Given the description of an element on the screen output the (x, y) to click on. 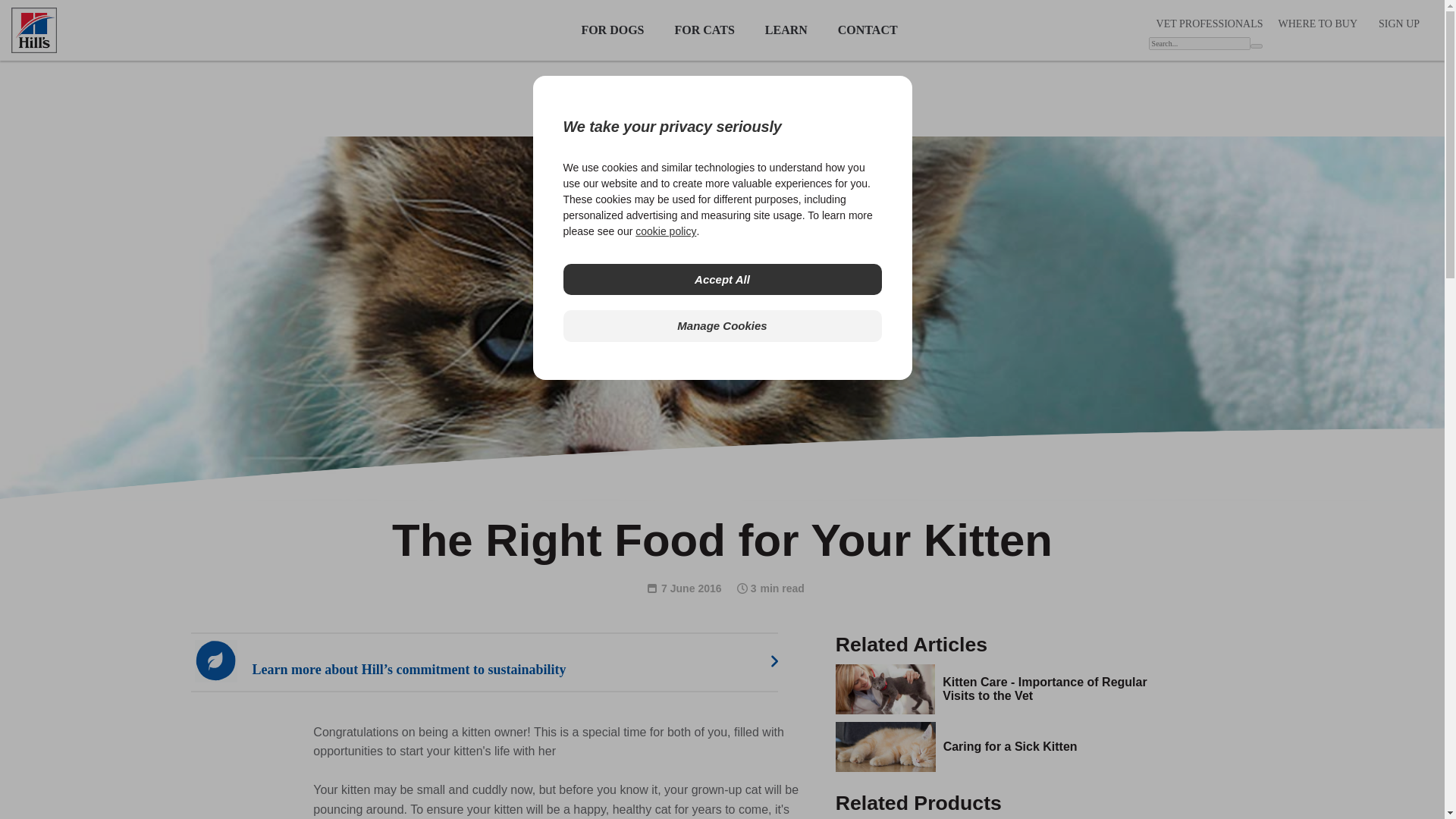
Learn more about sustainability (496, 662)
Accept All (721, 278)
Manage Cookies (721, 325)
cookie policy (664, 231)
